Given the description of an element on the screen output the (x, y) to click on. 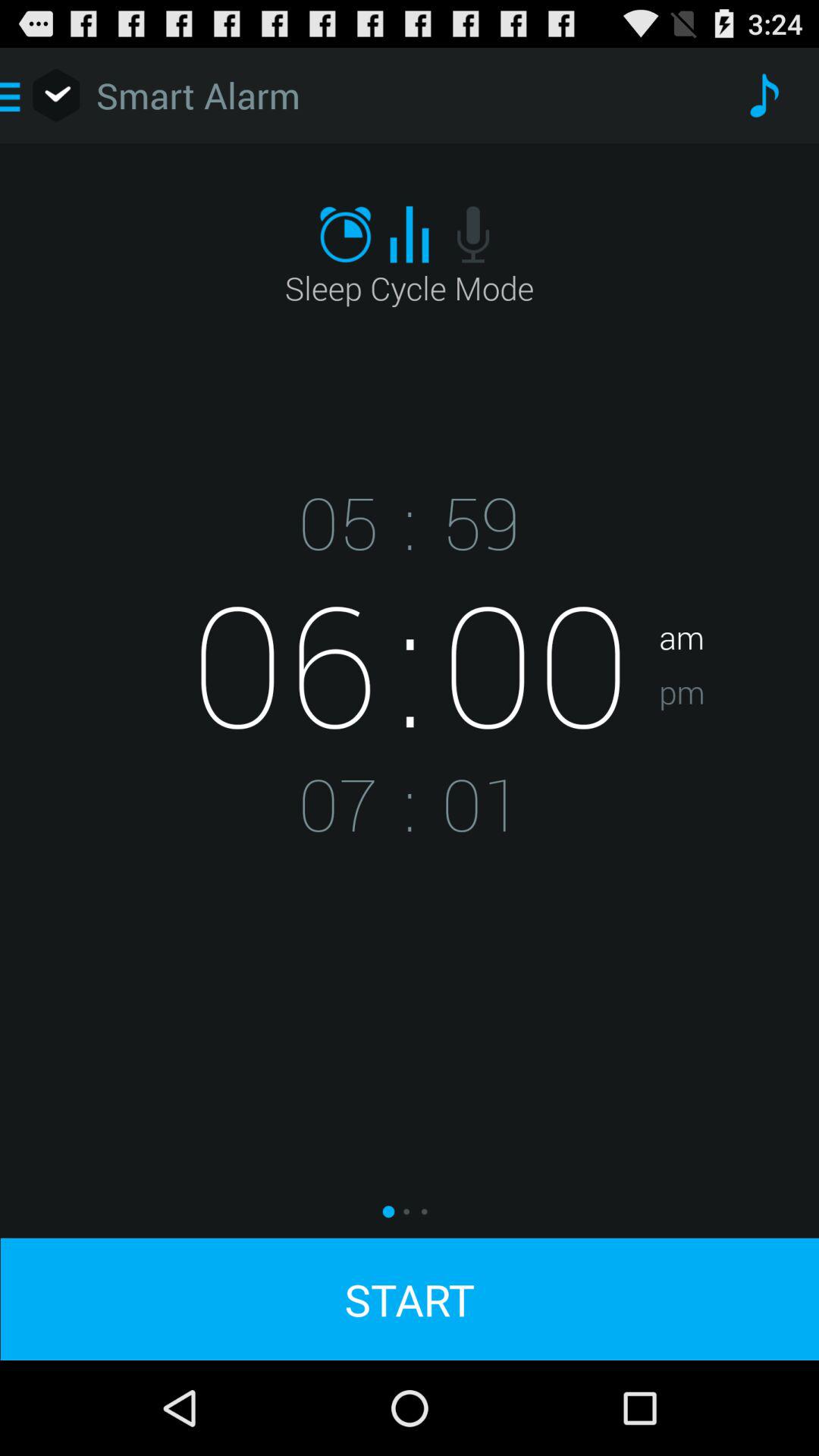
swipe until the start item (409, 1299)
